Given the description of an element on the screen output the (x, y) to click on. 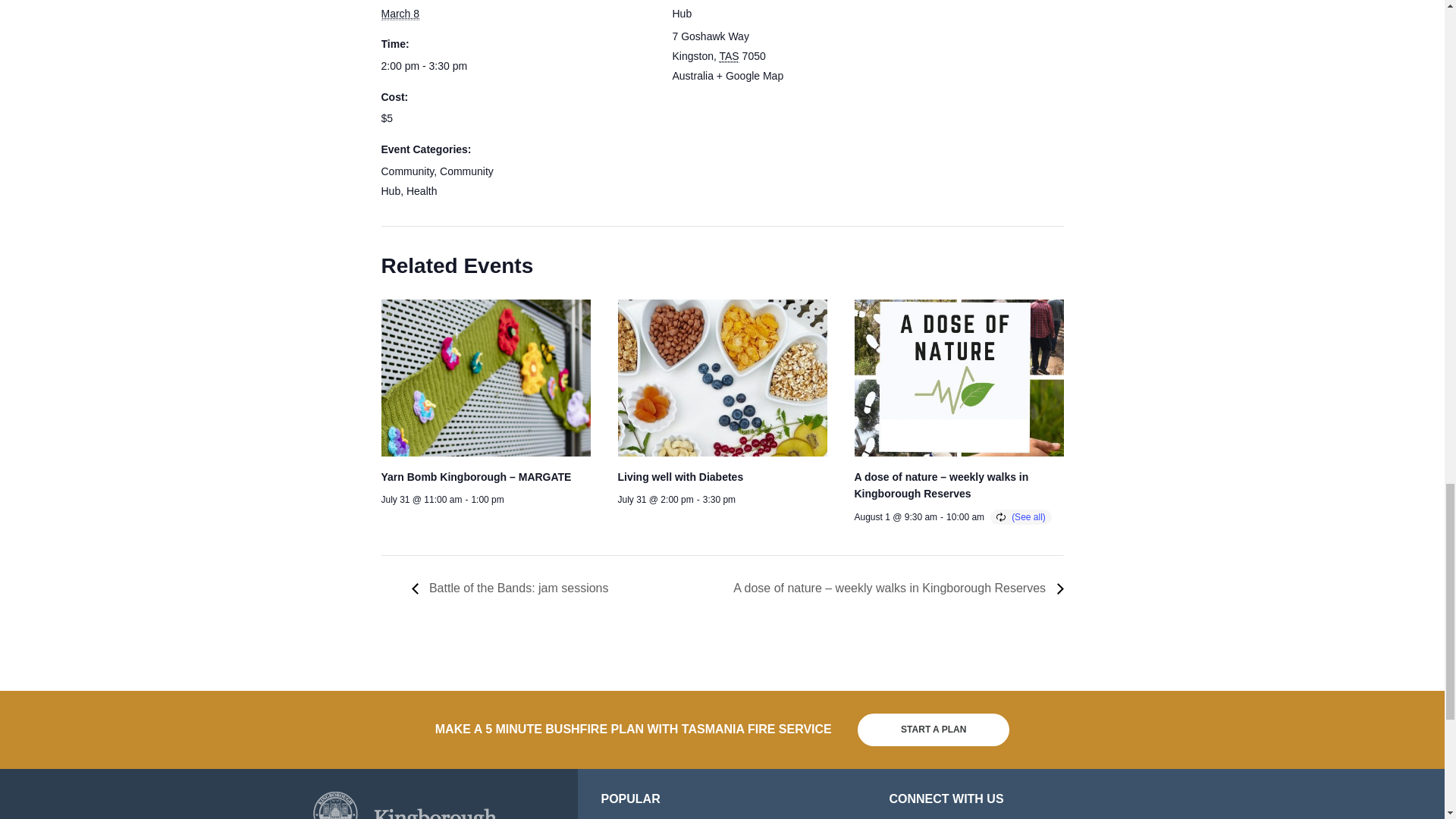
2024-03-08 (399, 13)
Click to view a Google Map (749, 75)
2024-03-08 (444, 66)
TAS (729, 56)
